Given the description of an element on the screen output the (x, y) to click on. 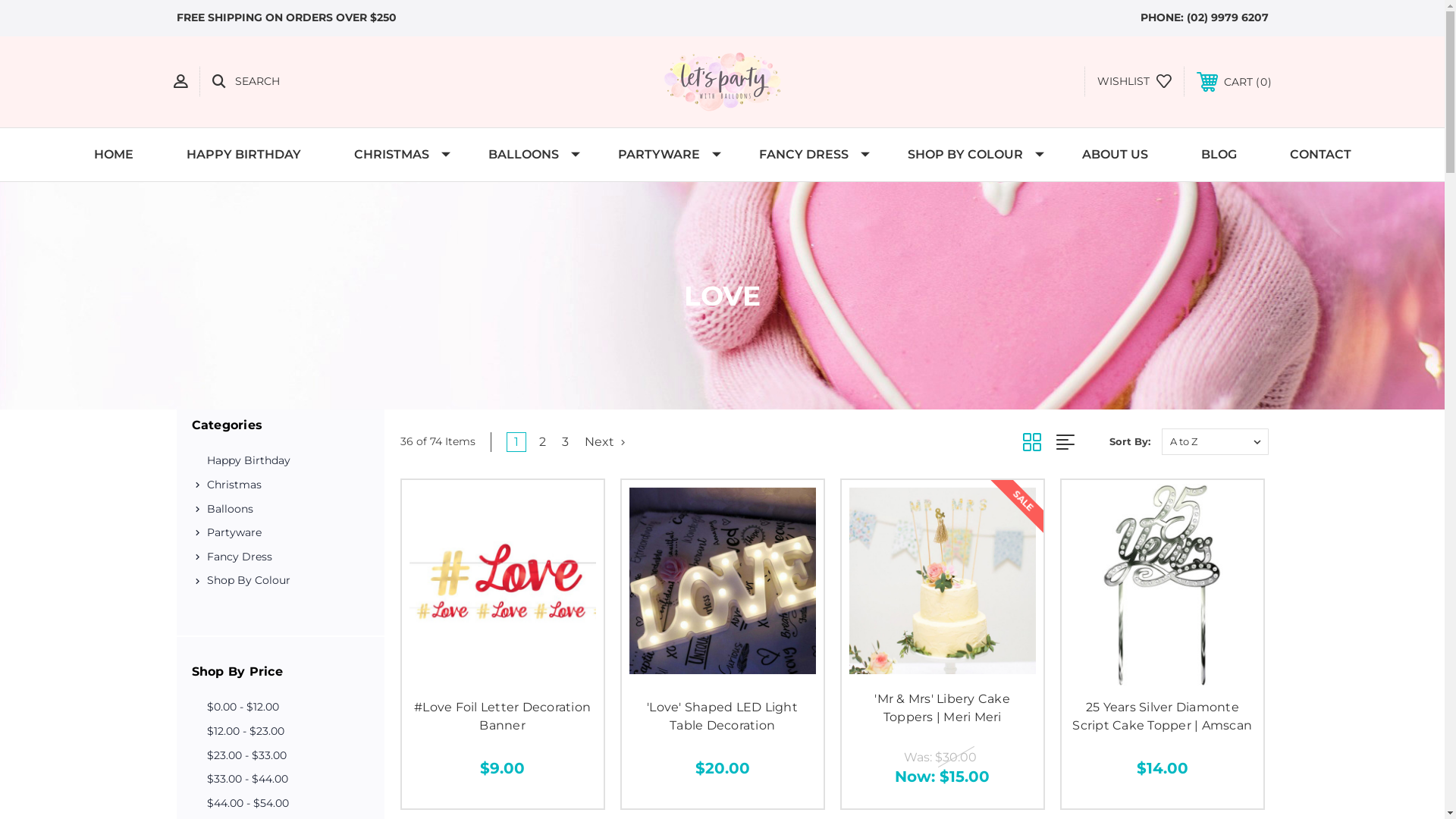
#Love Foil Letter Decoration Banner Element type: hover (502, 580)
$0.00 - $12.00 Element type: text (279, 707)
Fancy Dress Element type: text (286, 557)
$23.00 - $33.00 Element type: text (279, 755)
Next Element type: text (601, 442)
3 Element type: text (565, 442)
25 Years Silver Diamonte Script Cake Topper | Amscan Element type: hover (1162, 584)
HAPPY BIRTHDAY Element type: text (242, 154)
2 Element type: text (542, 442)
(02) 9979 6207 Element type: text (1226, 17)
$12.00 - $23.00 Element type: text (279, 731)
BLOG Element type: text (1217, 154)
'Mr & Mrs' Libery Cake Toppers | Meri Meri  Element type: hover (942, 580)
ABOUT US Element type: text (1114, 154)
CONTACT Element type: text (1320, 154)
FANCY DRESS Element type: text (806, 154)
Happy Birthday Element type: text (279, 460)
SEARCH Element type: text (245, 81)
HOME Element type: text (112, 154)
WISHLIST Element type: text (1133, 81)
$33.00 - $44.00 Element type: text (279, 779)
Shop By Colour Element type: text (286, 580)
#Love Foil Letter Decoration Banner Element type: text (502, 715)
Let's Party With Balloons Element type: hover (722, 81)
PARTYWARE Element type: text (661, 154)
$44.00 - $54.00 Element type: text (279, 803)
'Love' Shaped LED Light Table Decoration Element type: hover (722, 580)
Partyware Element type: text (286, 532)
CART 0 Element type: text (1233, 81)
Balloons Element type: text (286, 509)
Christmas Element type: text (286, 485)
SHOP BY COLOUR Element type: text (968, 154)
BALLOONS Element type: text (525, 154)
Love Element type: hover (722, 295)
'Mr & Mrs' Libery Cake Toppers | Meri Meri Element type: text (942, 707)
1 Element type: text (515, 442)
25 Years Silver Diamonte Script Cake Topper | Amscan Element type: text (1162, 715)
CHRISTMAS Element type: text (394, 154)
'Love' Shaped LED Light Table Decoration Element type: text (721, 715)
